Given the description of an element on the screen output the (x, y) to click on. 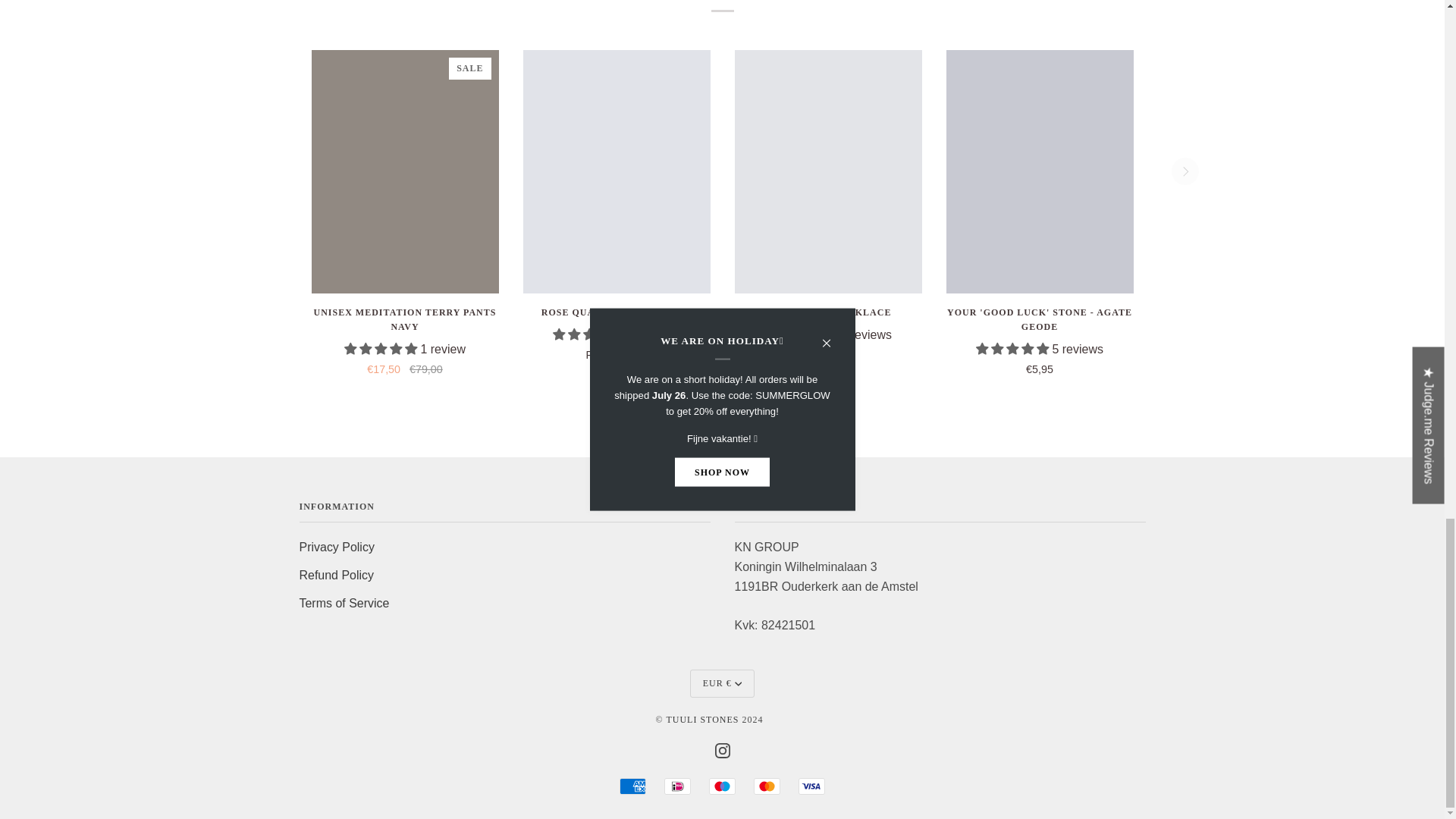
Maestro (722, 786)
Visa (811, 786)
Instagram (721, 749)
American Express (633, 786)
iDEAL (676, 786)
Mastercard (767, 786)
